Given the description of an element on the screen output the (x, y) to click on. 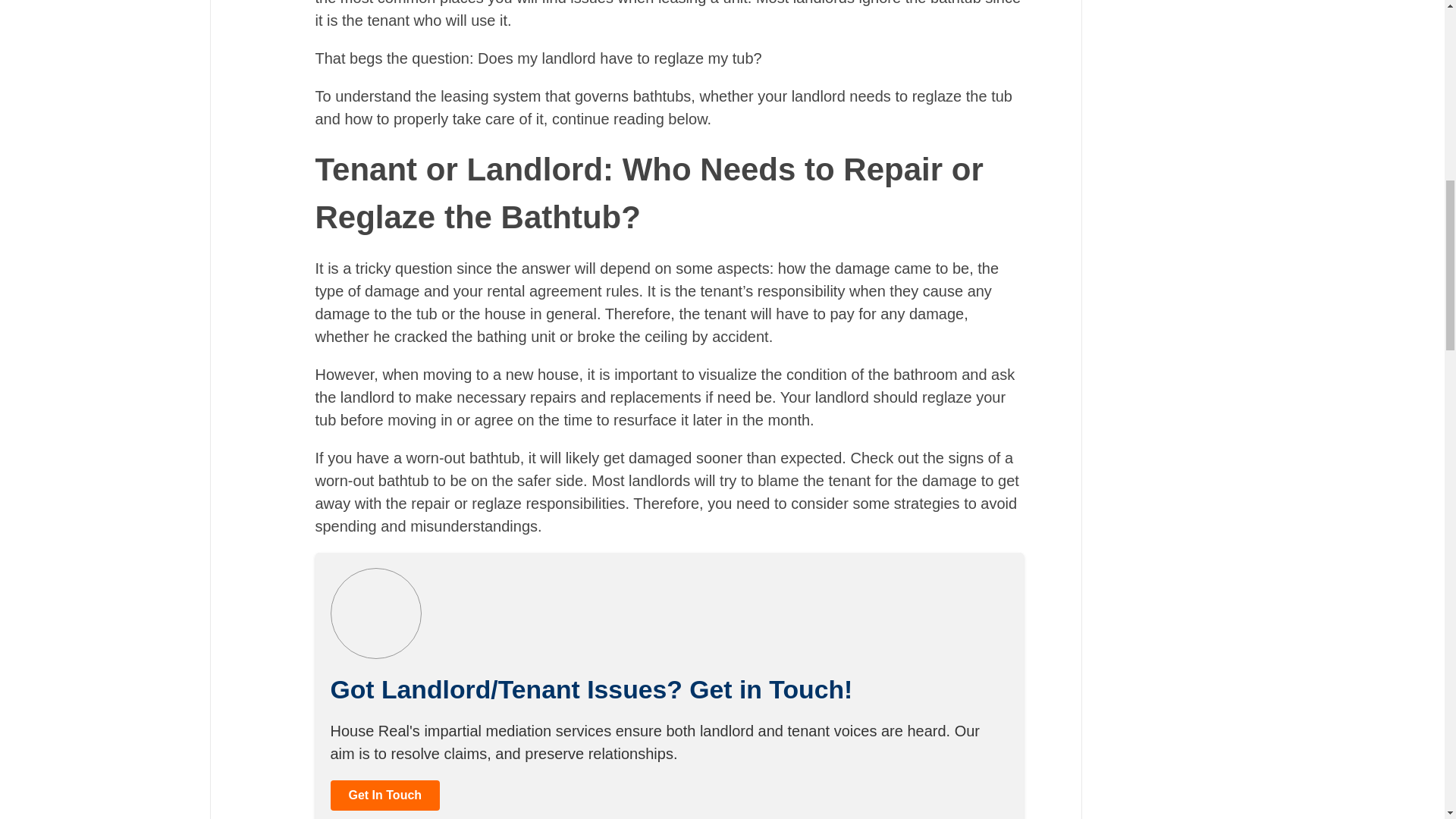
Get In Touch (385, 793)
Get In Touch (385, 795)
